Given the description of an element on the screen output the (x, y) to click on. 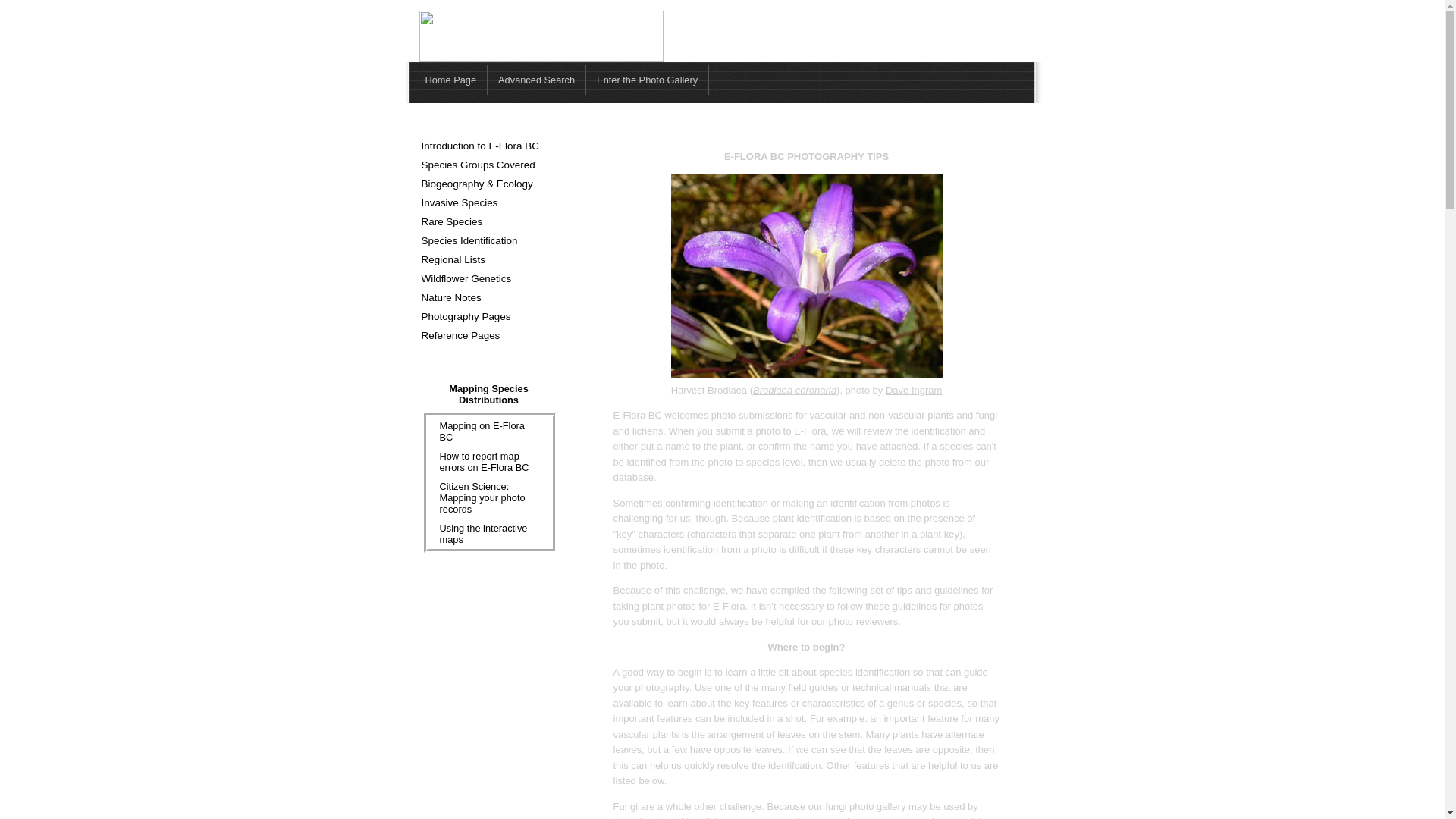
Invasive Species (489, 202)
Home Page (450, 80)
Enter the Photo Gallery (647, 80)
Introduction to E-Flora BC (489, 145)
Species Groups Covered (489, 164)
Advanced Search (536, 80)
